Given the description of an element on the screen output the (x, y) to click on. 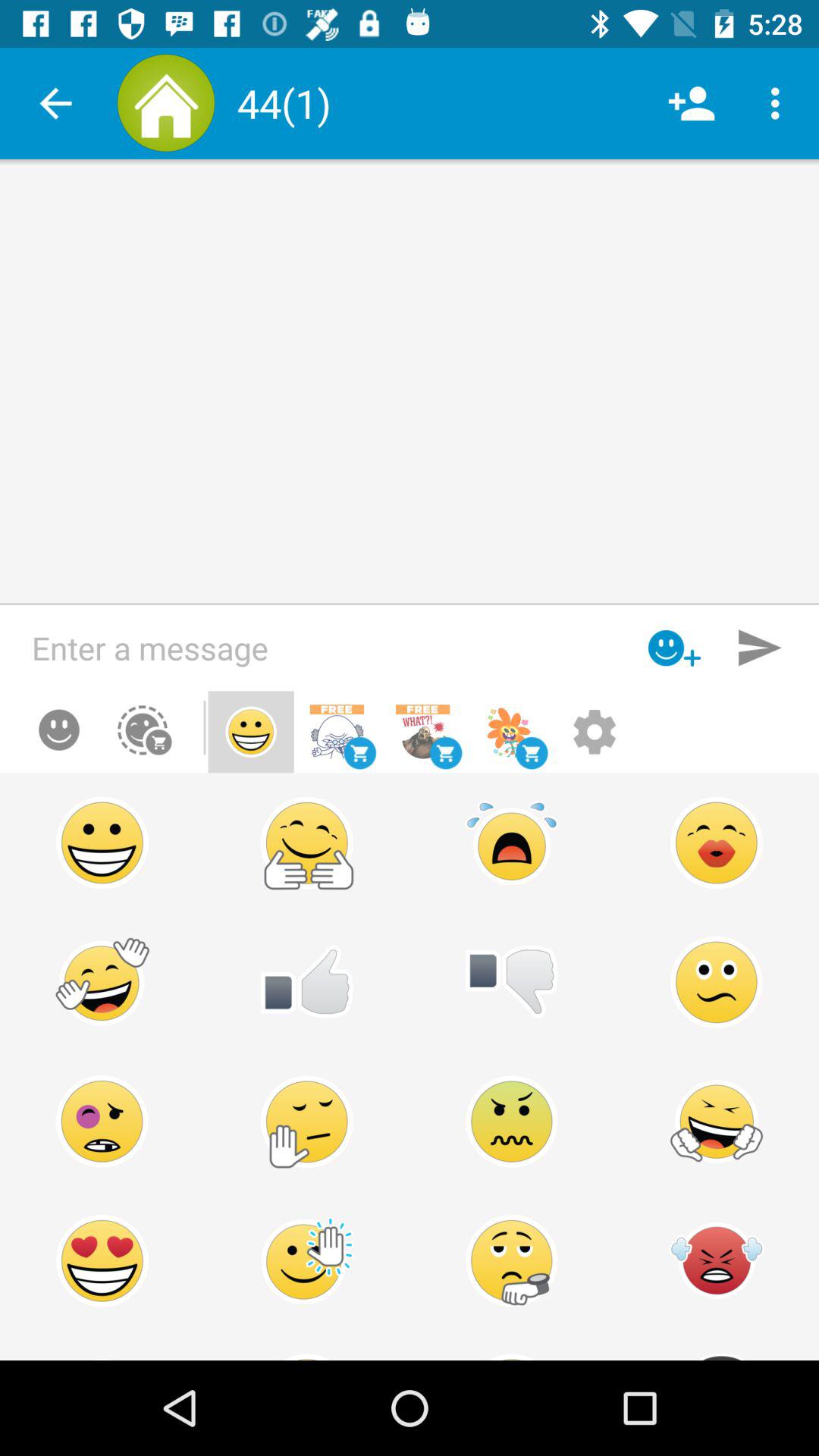
launch the item to the right of (1) (691, 103)
